Given the description of an element on the screen output the (x, y) to click on. 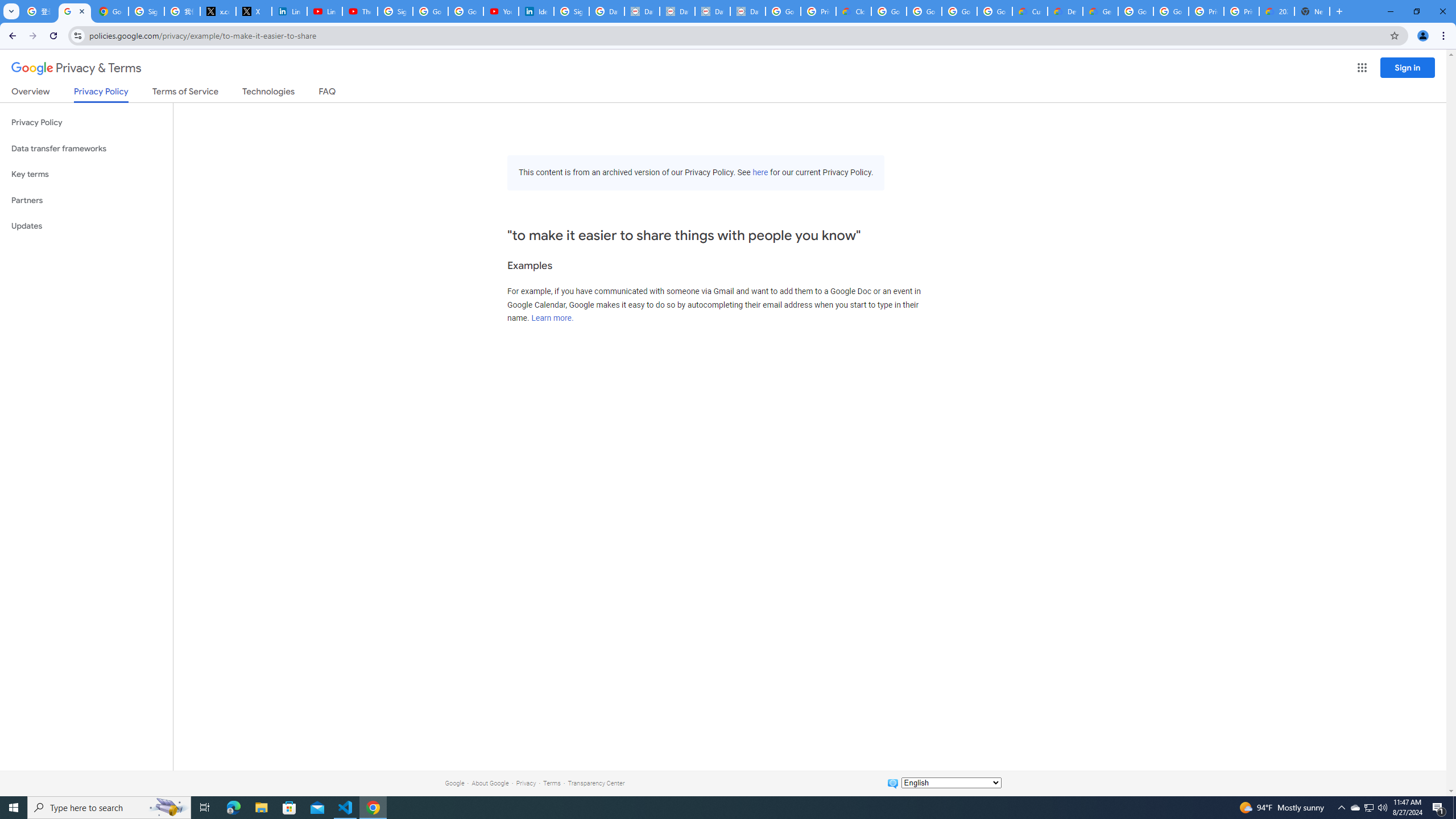
Key terms (86, 174)
Sign in - Google Accounts (571, 11)
Privacy (525, 783)
